Given the description of an element on the screen output the (x, y) to click on. 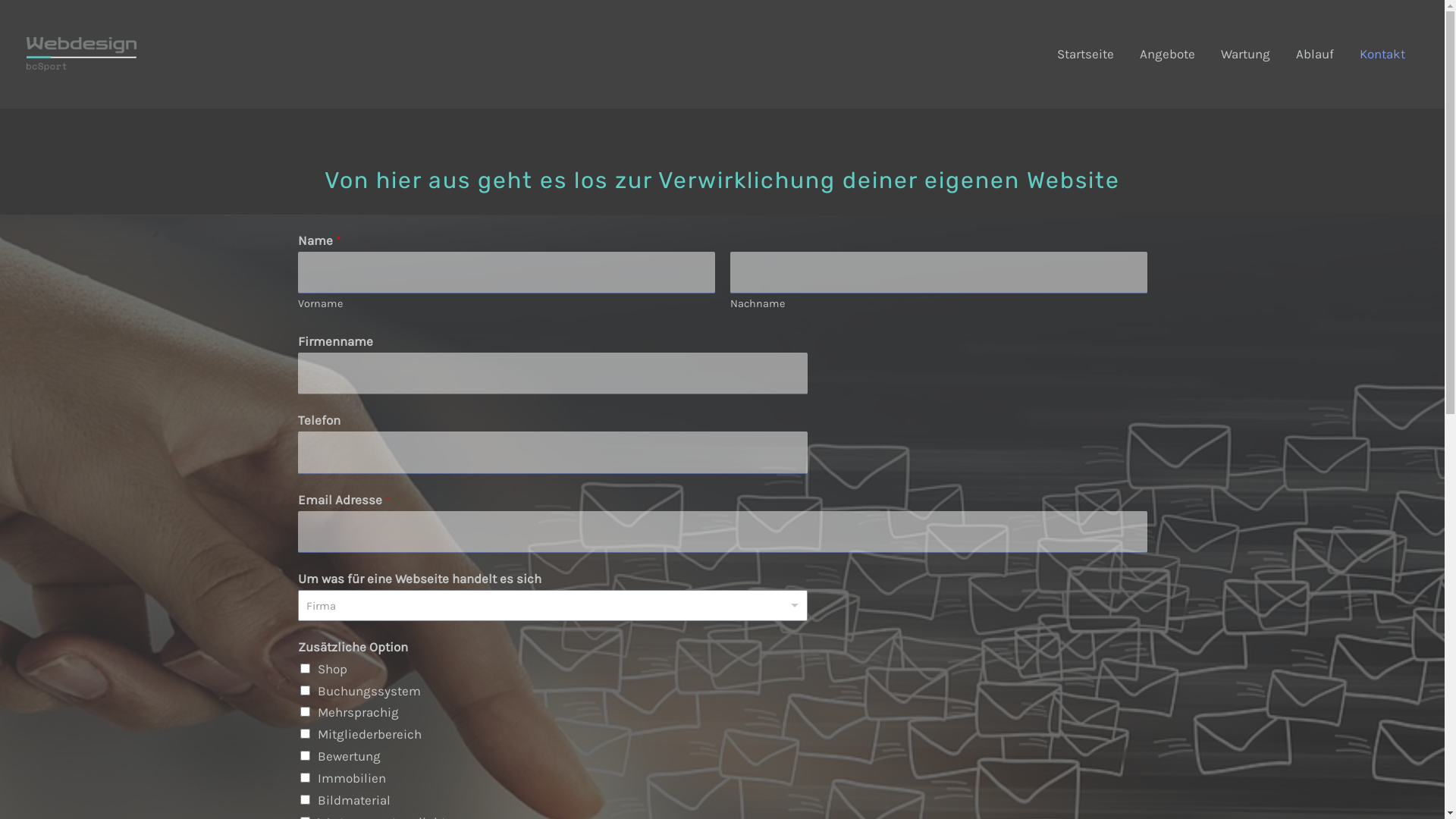
Ablauf Element type: text (1314, 54)
Wartung Element type: text (1245, 54)
Startseite Element type: text (1085, 54)
Angebote Element type: text (1167, 54)
Kontakt Element type: text (1382, 54)
